Given the description of an element on the screen output the (x, y) to click on. 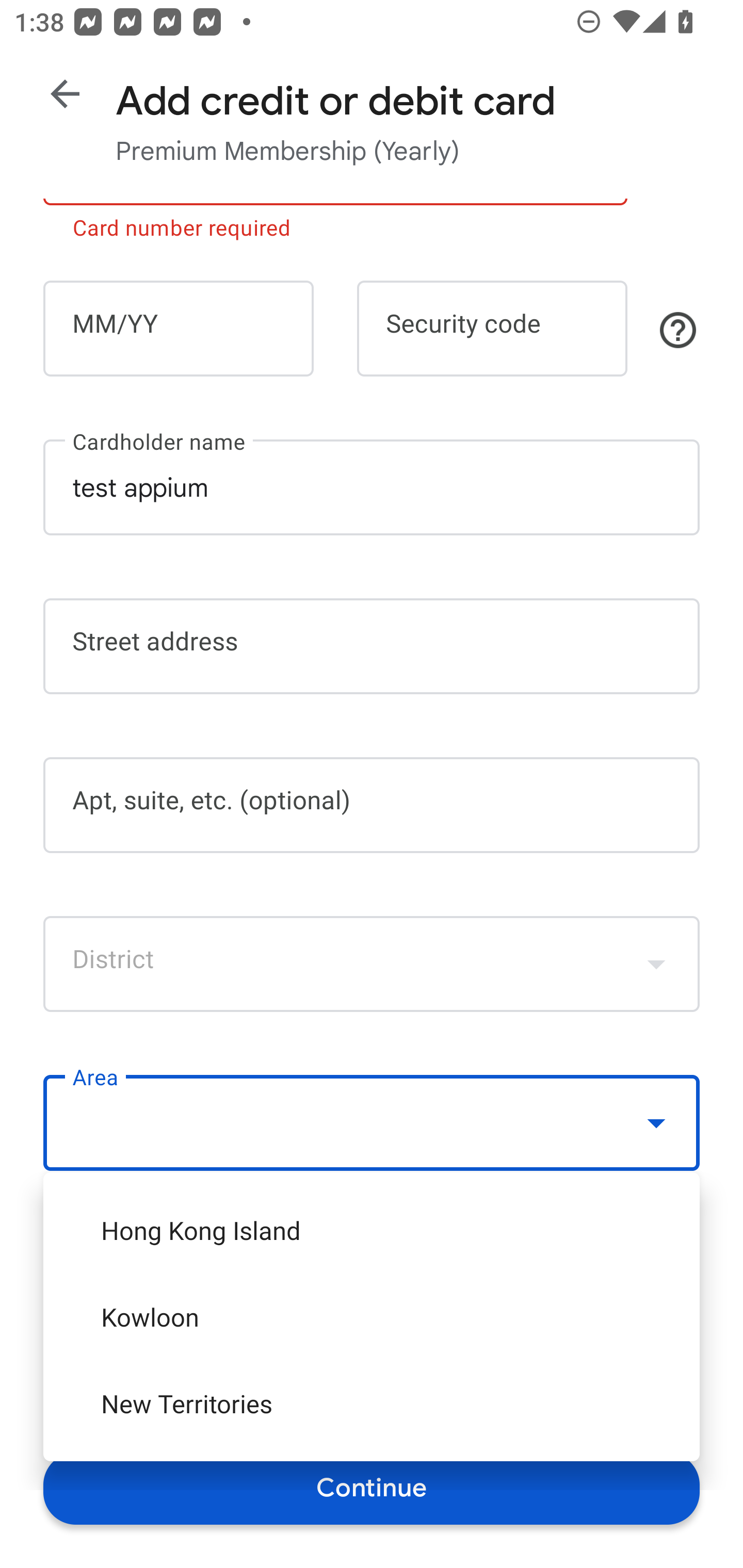
Back (64, 93)
Expiration date, 2 digit month, 2 digit year (178, 328)
Security code (492, 328)
Security code help (677, 329)
test appium (371, 486)
Street address (371, 646)
Apt, suite, etc. (optional) (371, 804)
District (371, 963)
Show dropdown menu (655, 963)
Area (371, 1123)
Show dropdown menu (655, 1122)
Continue (371, 1487)
